Given the description of an element on the screen output the (x, y) to click on. 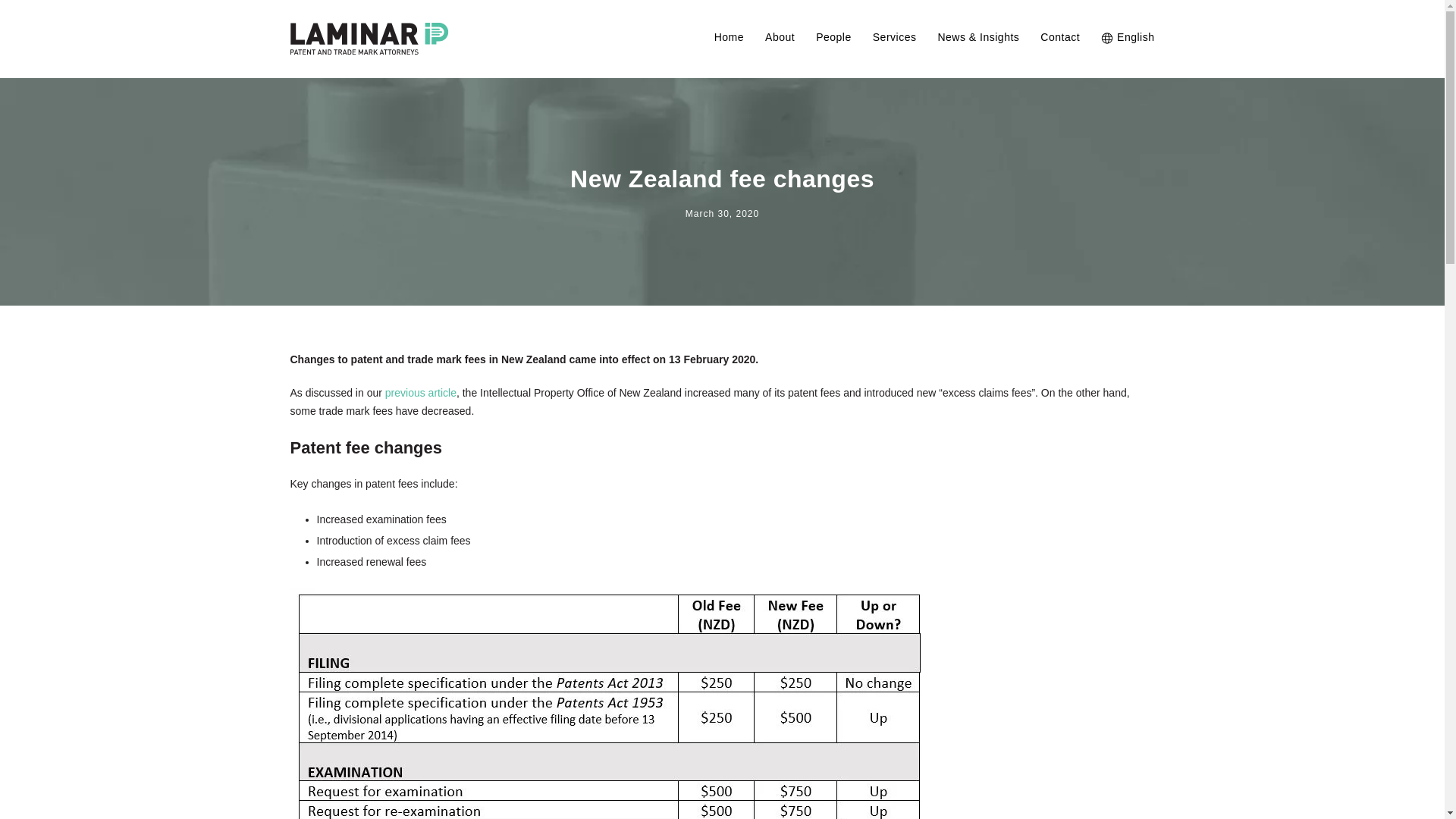
English (1127, 52)
English (1127, 52)
March 30, 2020 (721, 213)
previous article (421, 392)
Services (894, 52)
Laminar IP (368, 38)
